Given the description of an element on the screen output the (x, y) to click on. 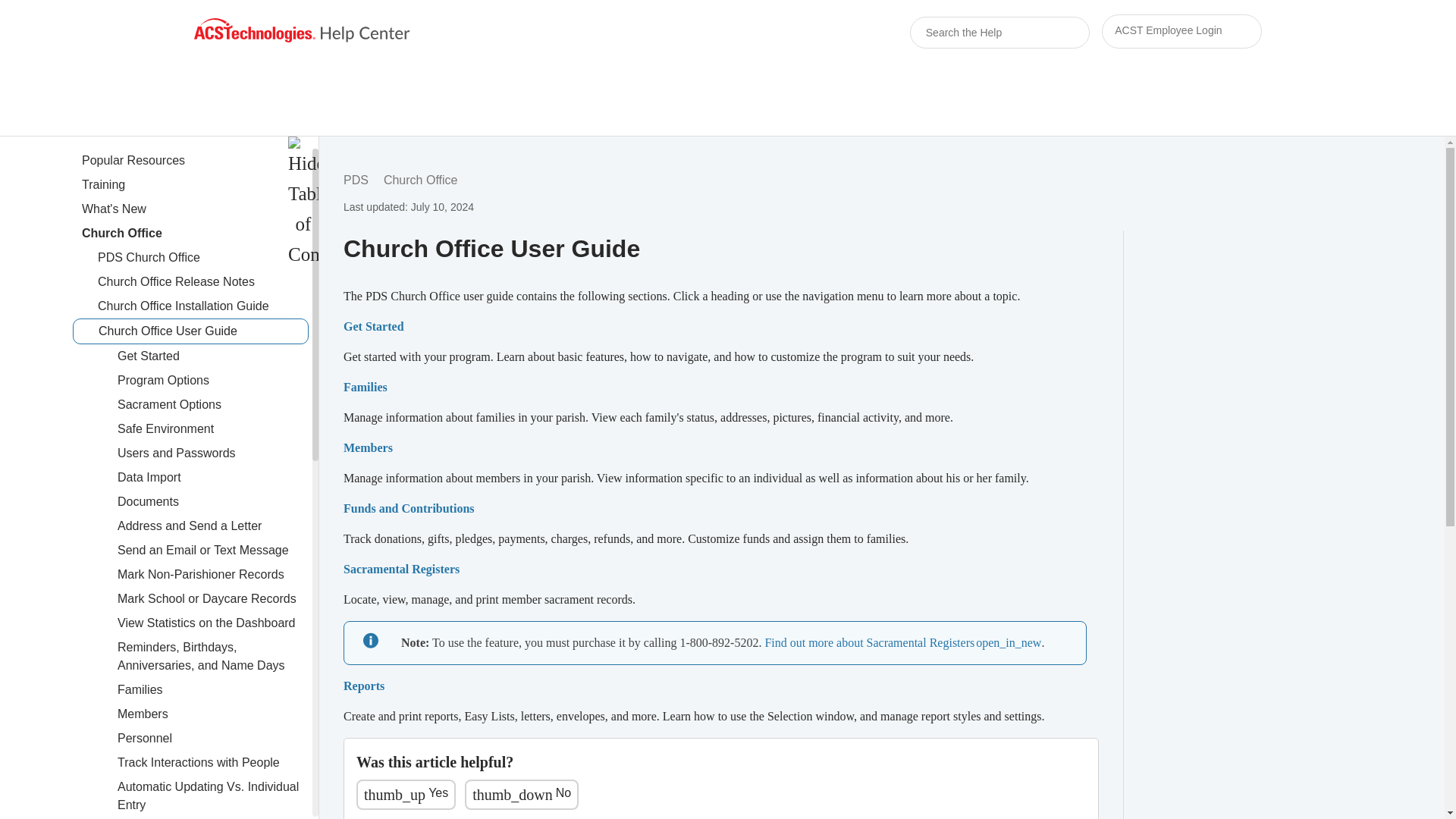
What's New (194, 209)
Training (194, 184)
Church Office (194, 233)
Popular Resources (194, 160)
ACST Employee Login (1182, 31)
search (1039, 32)
PDS Church Office (202, 257)
ACST Employee Login (1182, 31)
